Given the description of an element on the screen output the (x, y) to click on. 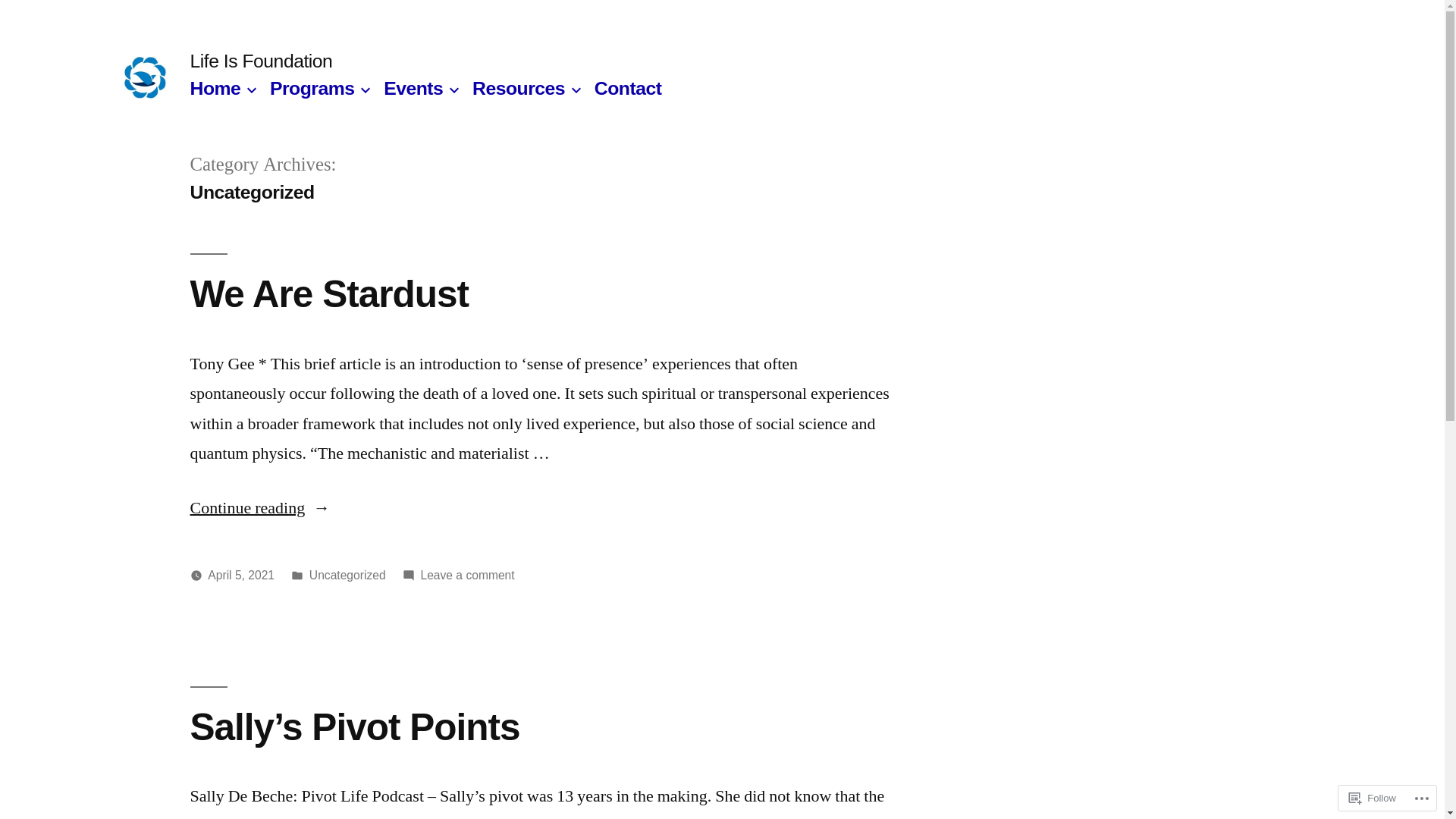
Uncategorized Element type: text (347, 574)
We Are Stardust Element type: text (328, 293)
Programs Element type: text (311, 88)
Contact Element type: text (628, 88)
Events Element type: text (412, 88)
April 5, 2021 Element type: text (240, 574)
Resources Element type: text (518, 88)
Follow Element type: text (1372, 797)
Life Is Foundation Element type: text (260, 60)
Home Element type: text (214, 88)
Continue reading Element type: text (259, 507)
Leave a comment Element type: text (467, 574)
